Given the description of an element on the screen output the (x, y) to click on. 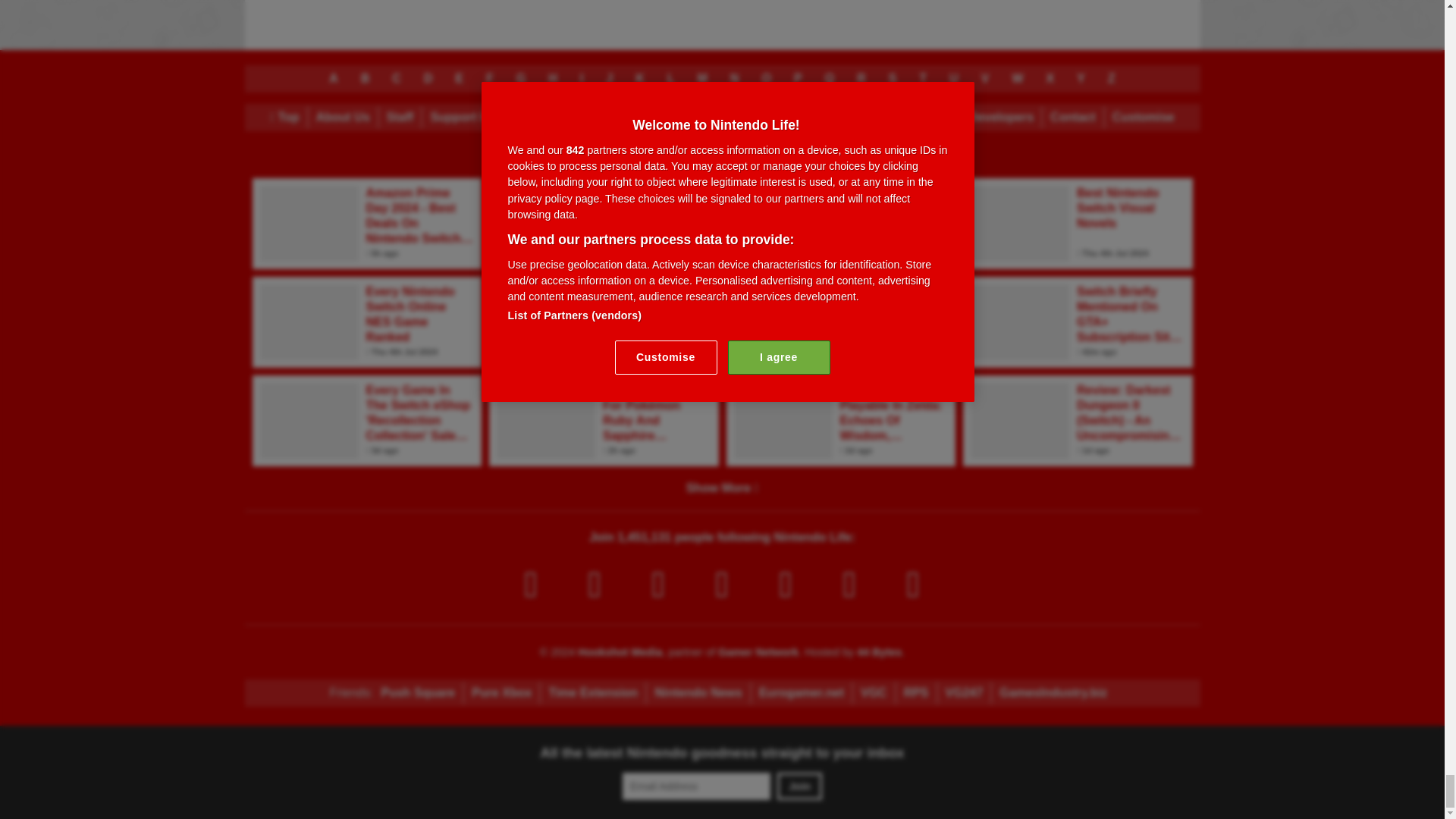
Join (799, 786)
